Given the description of an element on the screen output the (x, y) to click on. 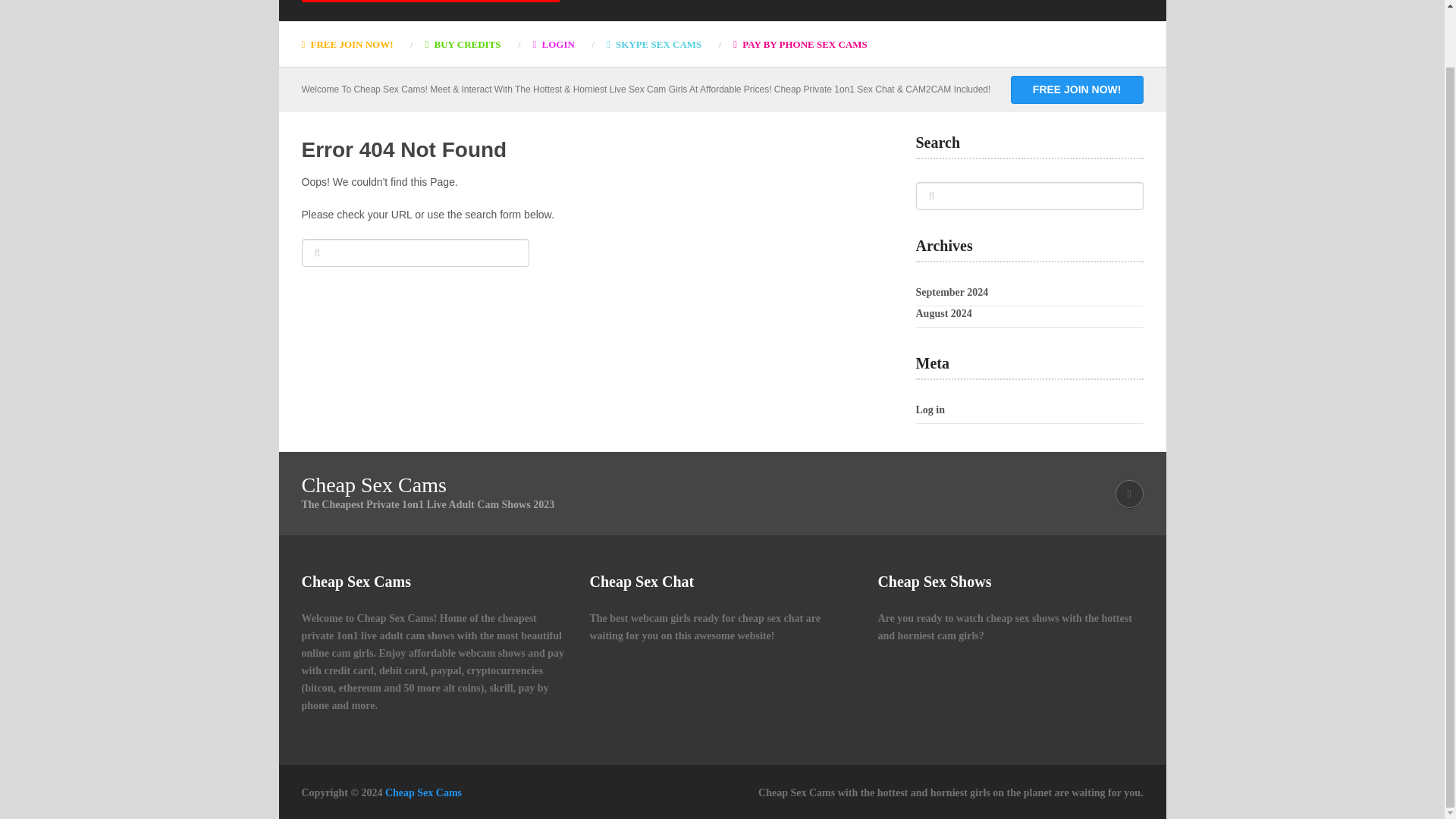
BUY CREDITS (462, 43)
Log in (929, 409)
FREE JOIN NOW! (1076, 90)
Cheap Sex Cams (423, 792)
Pay by Phone Sex Cams (799, 43)
FREE JOIN NOW! (355, 43)
August 2024 (943, 313)
SKYPE SEX CAMS (654, 43)
September 2024 (951, 292)
LOGIN (553, 43)
